Given the description of an element on the screen output the (x, y) to click on. 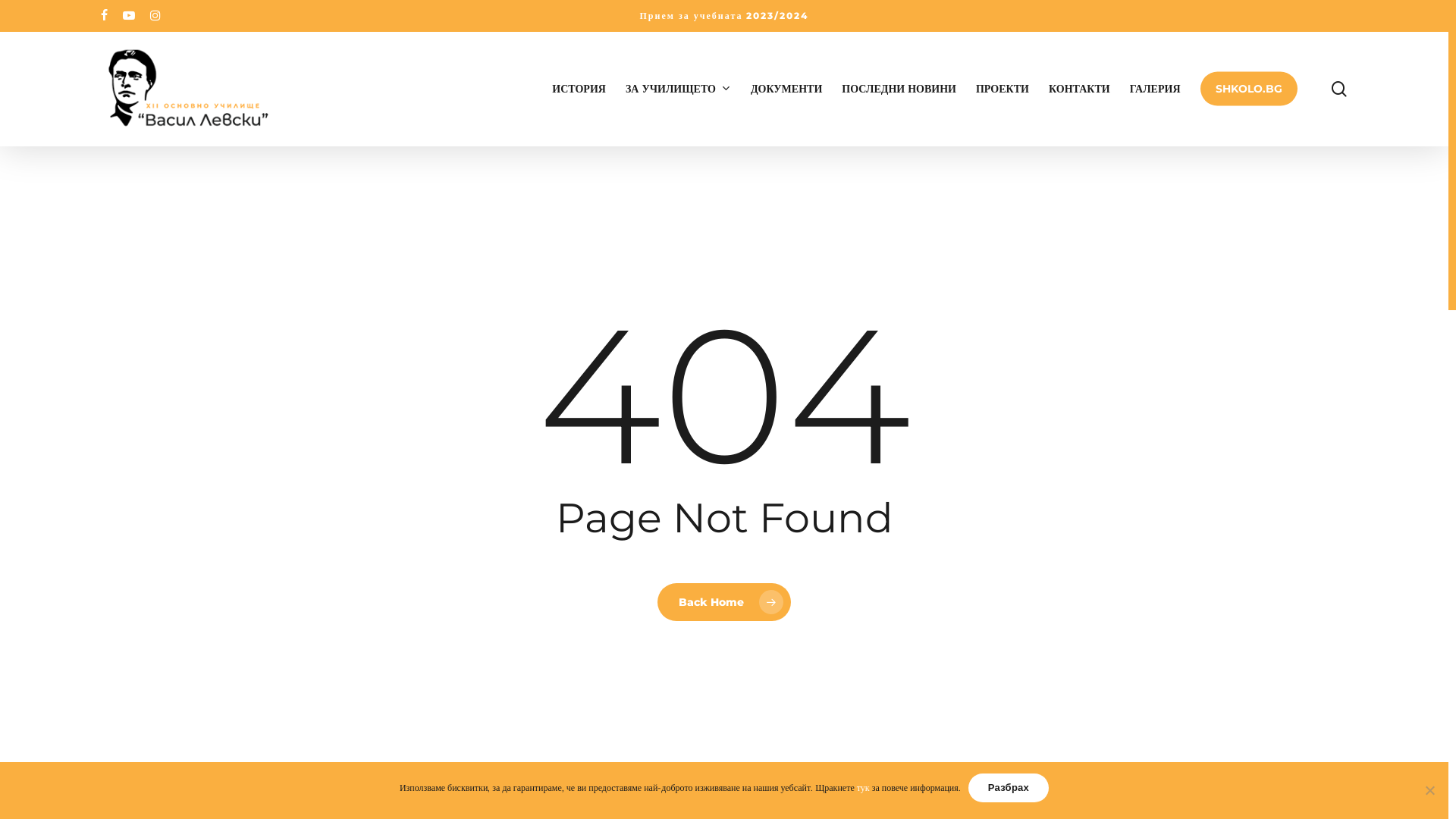
YOUTUBE Element type: text (128, 15)
FACEBOOK Element type: text (103, 15)
search Element type: text (1339, 88)
SHKOLO.BG Element type: text (1247, 88)
Back Home Element type: text (723, 601)
INSTAGRAM Element type: text (155, 15)
No Element type: hover (1429, 789)
